Given the description of an element on the screen output the (x, y) to click on. 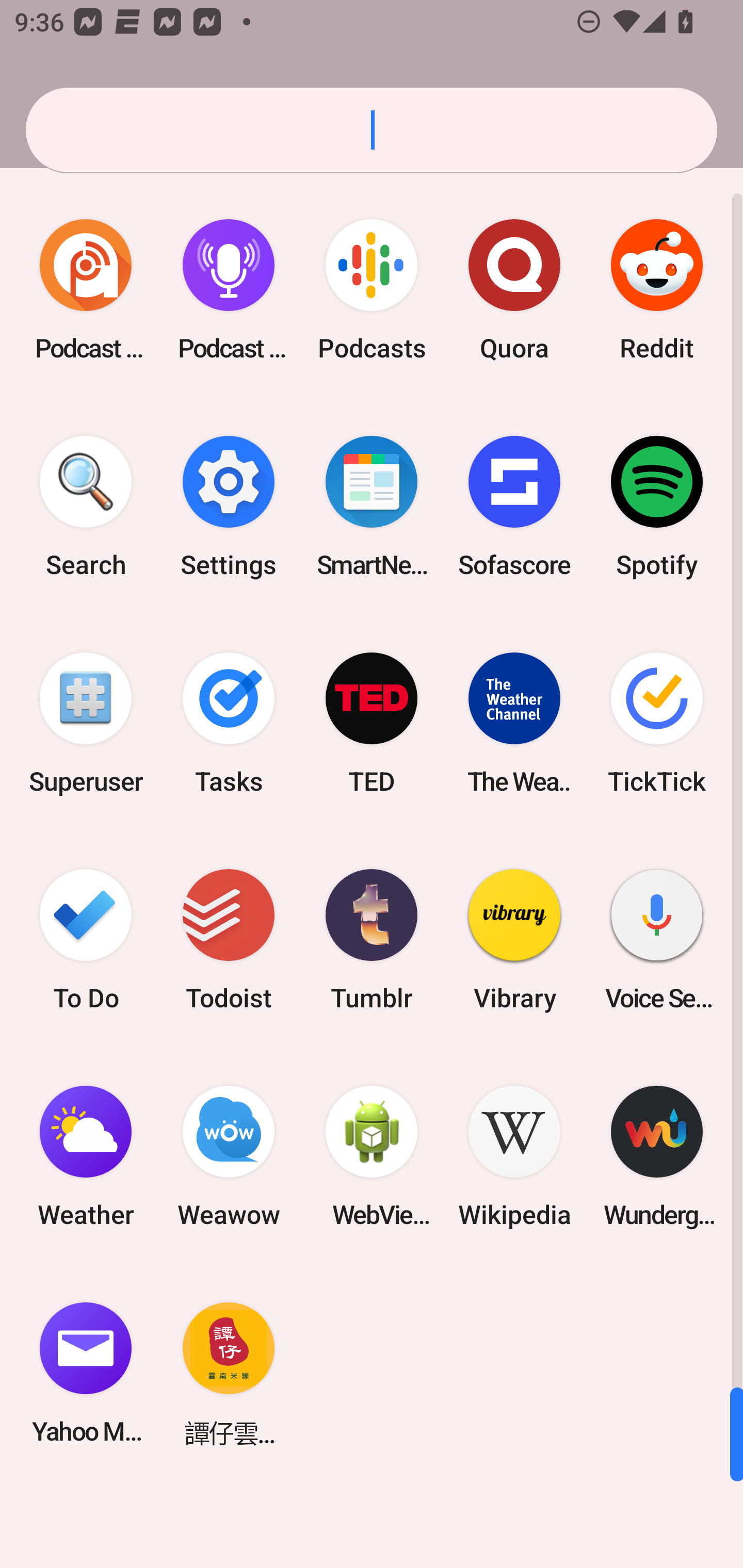
  Search apps (371, 130)
Podcast Addict (85, 289)
Podcast Player (228, 289)
Podcasts (371, 289)
Quora (514, 289)
Reddit (656, 289)
Search (85, 506)
Settings (228, 506)
SmartNews (371, 506)
Sofascore (514, 506)
Spotify (656, 506)
Superuser (85, 722)
Tasks (228, 722)
TED (371, 722)
The Weather Channel (514, 722)
TickTick (656, 722)
To Do (85, 939)
Todoist (228, 939)
Tumblr (371, 939)
Vibrary (514, 939)
Voice Search (656, 939)
Weather (85, 1156)
Weawow (228, 1156)
WebView Browser Tester (371, 1156)
Wikipedia (514, 1156)
Wunderground (656, 1156)
Yahoo Mail (85, 1373)
譚仔雲南米線 (228, 1373)
